Given the description of an element on the screen output the (x, y) to click on. 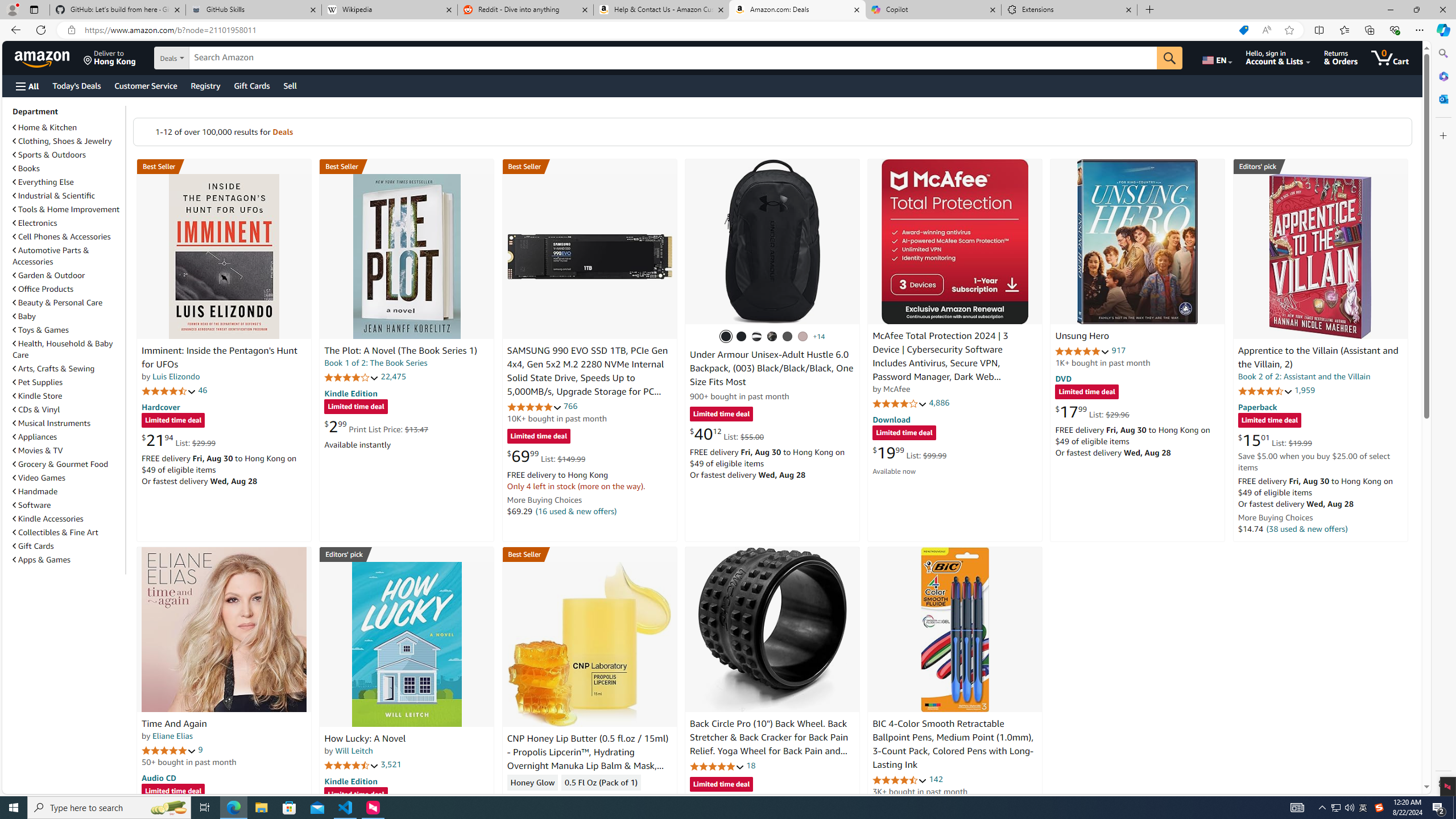
How Lucky: A Novel (365, 738)
The Plot: A Novel (The Book Series 1) (400, 351)
Industrial & Scientific (67, 195)
$2.99 Print List Price: $13.47 (376, 426)
Arts, Crafts & Sewing (53, 368)
Apprentice to the Villain (Assistant and the Villain, 2) (1319, 256)
Will Leitch (353, 750)
Kindle Store (37, 395)
DVD (1063, 378)
Editors' pick Best Mystery, Thriller & Suspense (406, 553)
